Given the description of an element on the screen output the (x, y) to click on. 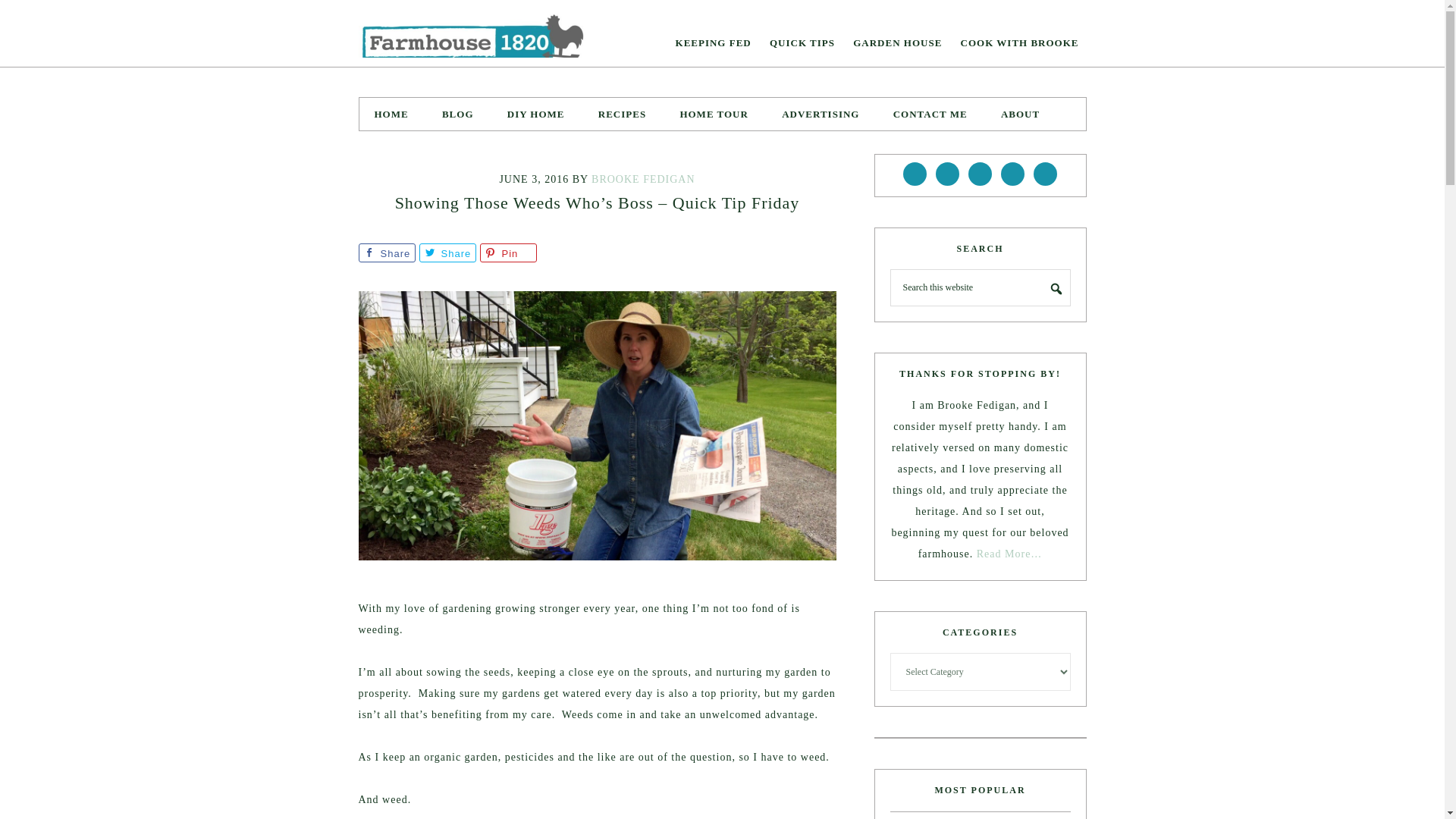
KEEPING FED (713, 42)
BROOKE FEDIGAN (643, 179)
QUICK TIPS (802, 42)
RECIPES (622, 113)
FARMHOUSE 1820 (471, 32)
HOME TOUR (712, 113)
ADVERTISING (821, 113)
GARDEN HOUSE (897, 42)
Follow my blog with Bloglovin (77, 9)
HOME (391, 113)
CONTACT ME (929, 113)
DIY HOME (535, 113)
COOK WITH BROOKE (1019, 42)
BLOG (457, 113)
ABOUT (1019, 113)
